Given the description of an element on the screen output the (x, y) to click on. 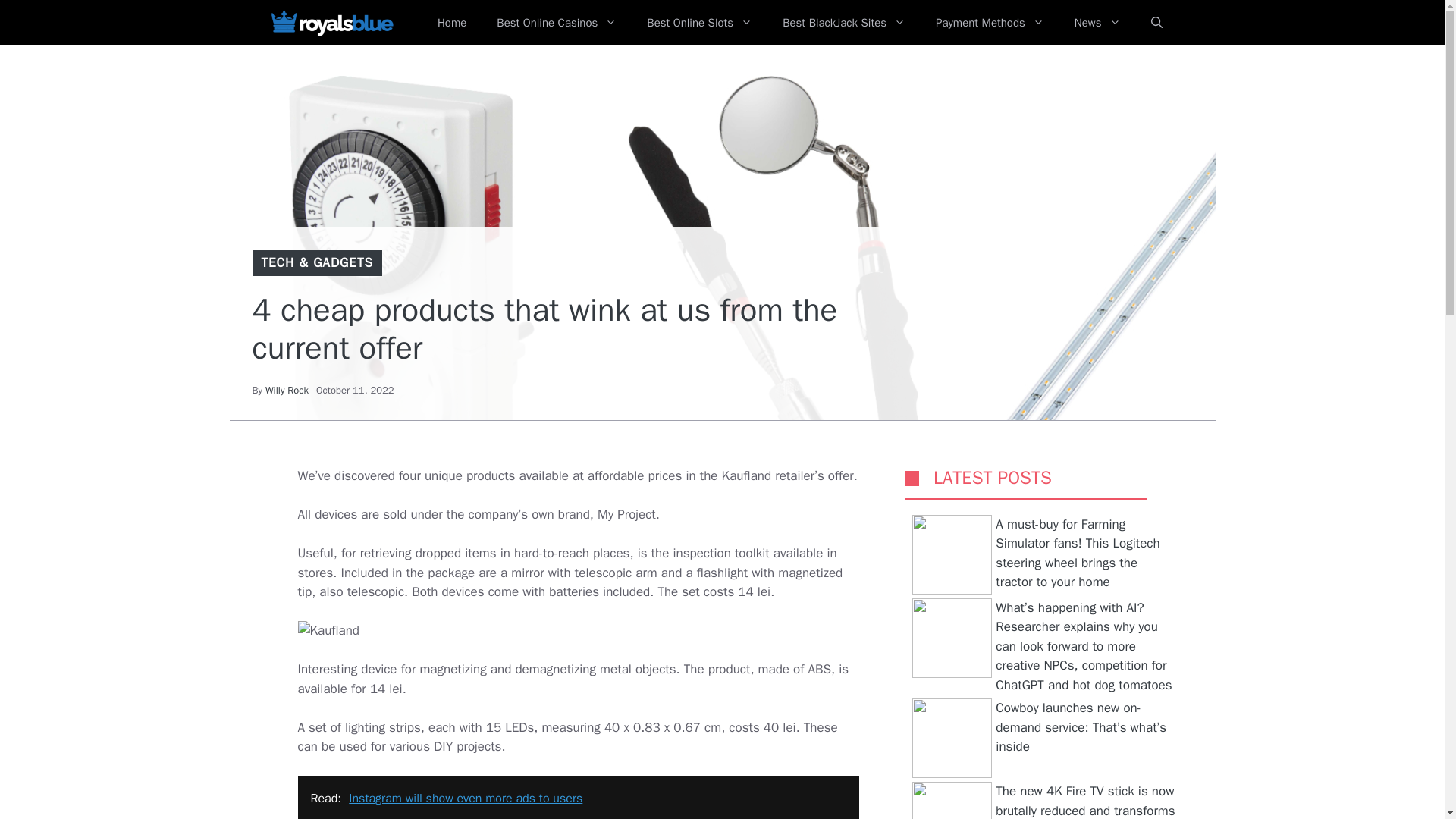
Payment Methods (989, 22)
Read:  Instagram will show even more ads to users (578, 797)
Best Online Slots (699, 22)
Home (451, 22)
Royals Blue (331, 22)
Best BlackJack Sites (843, 22)
Best Online Casinos (556, 22)
SORRY, YOUR BROWSER DOES NOT SUPPORT INLINE SVG. (911, 477)
Willy Rock (286, 390)
News (1097, 22)
